Given the description of an element on the screen output the (x, y) to click on. 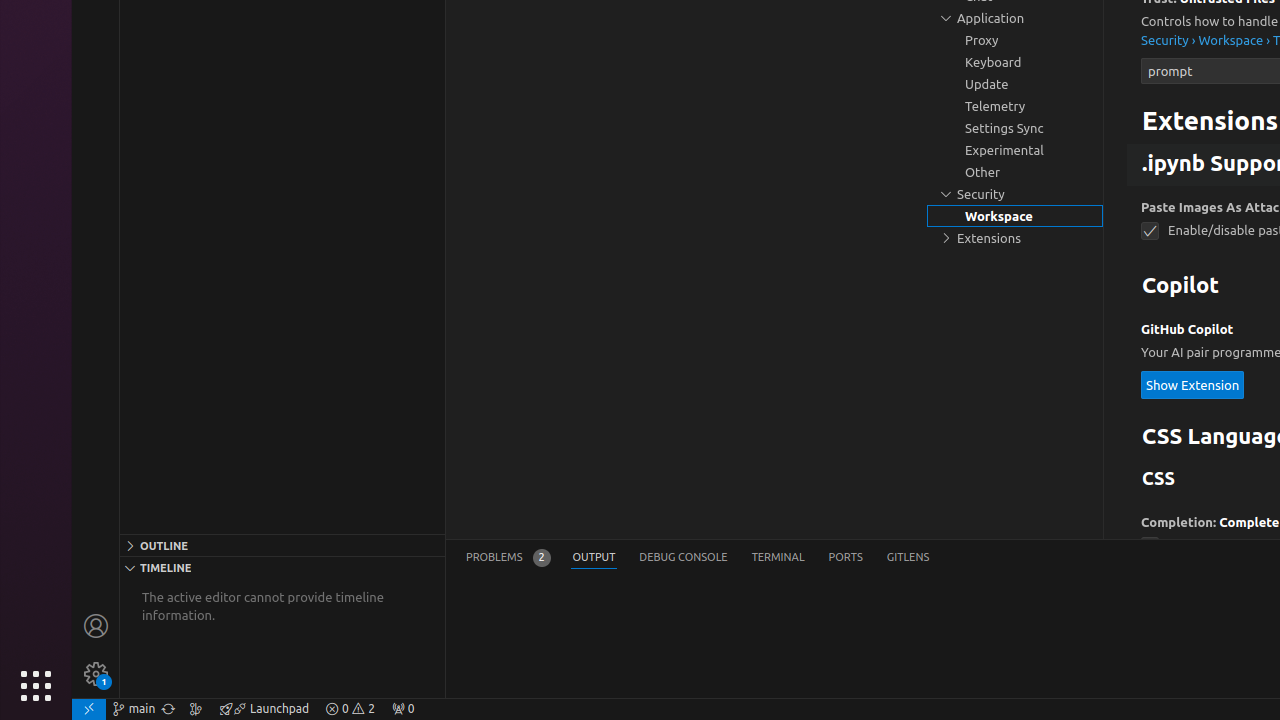
Active View Switcher Element type: page-tab-list (698, 557)
Output (Ctrl+K Ctrl+H) Element type: page-tab (594, 557)
ipynb.pasteImagesAsAttachments.enabled Element type: check-box (1150, 231)
Proxy, group Element type: tree-item (1015, 40)
